Given the description of an element on the screen output the (x, y) to click on. 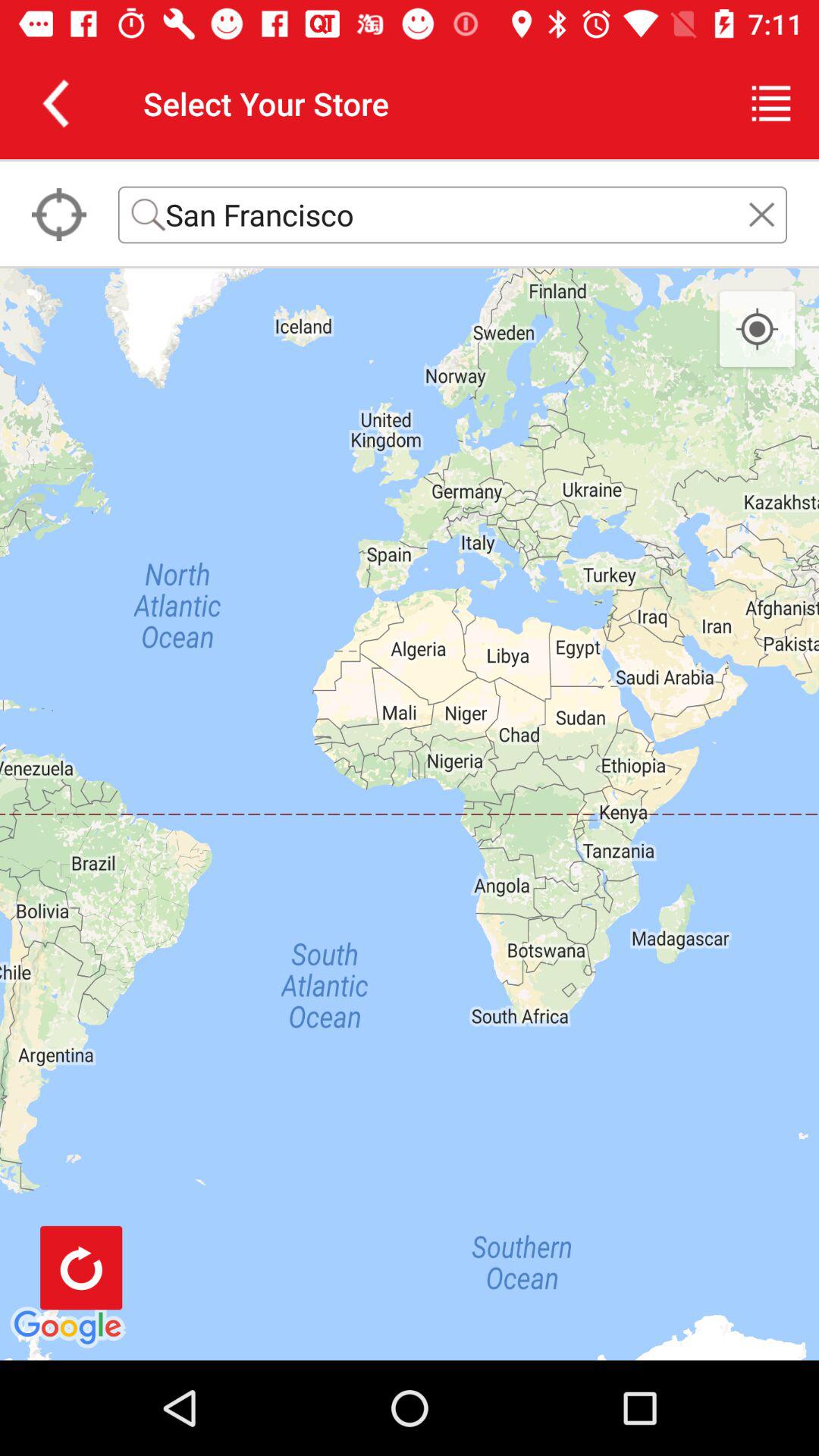
launch the san francisco icon (452, 214)
